Given the description of an element on the screen output the (x, y) to click on. 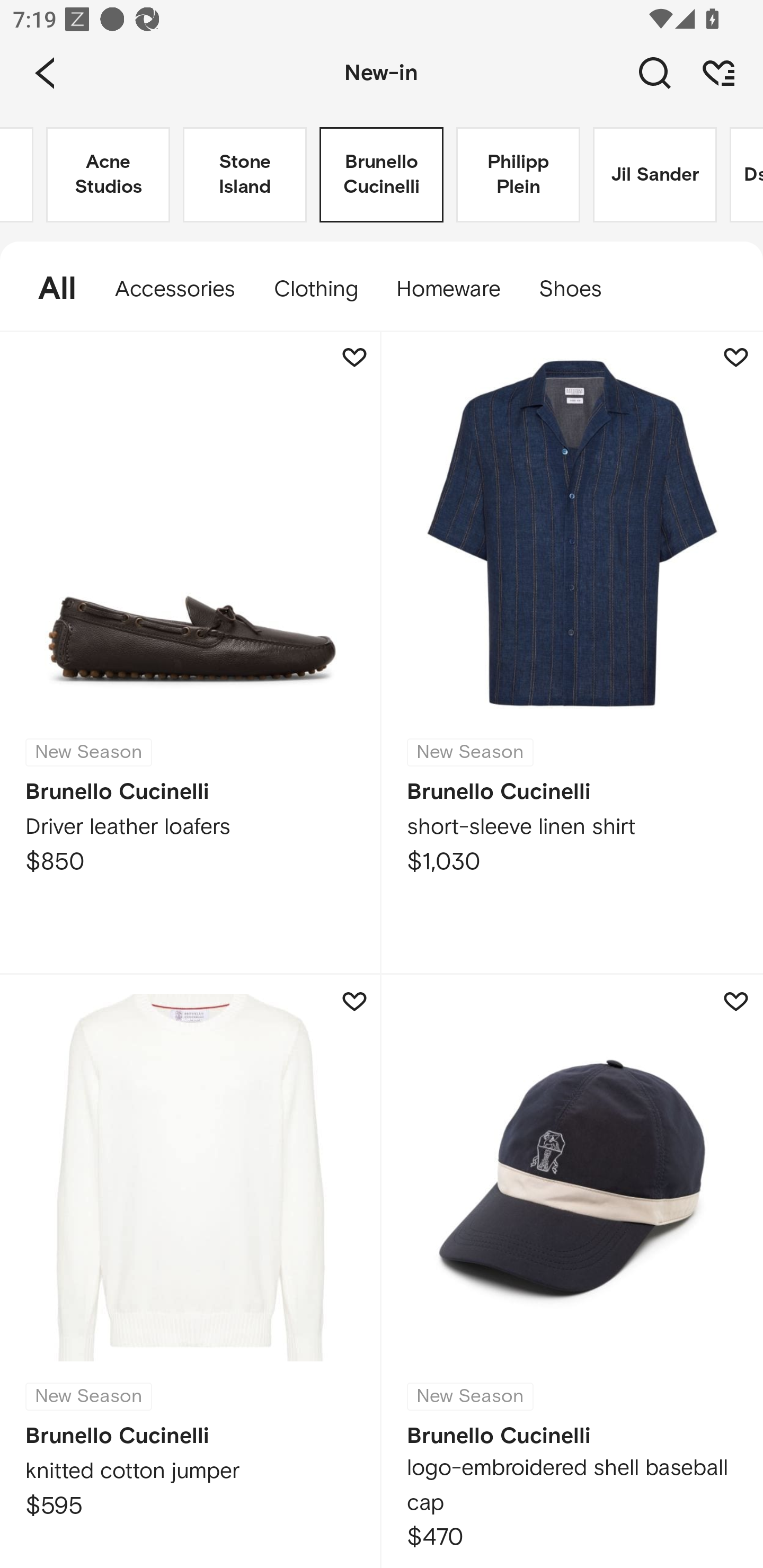
Acne Studios (107, 174)
Stone Island (244, 174)
Brunello Cucinelli (381, 174)
Philipp Plein (517, 174)
Jil Sander (654, 174)
All (47, 288)
Accessories (174, 288)
Clothing (315, 288)
Homeware (447, 288)
Shoes (579, 288)
